Given the description of an element on the screen output the (x, y) to click on. 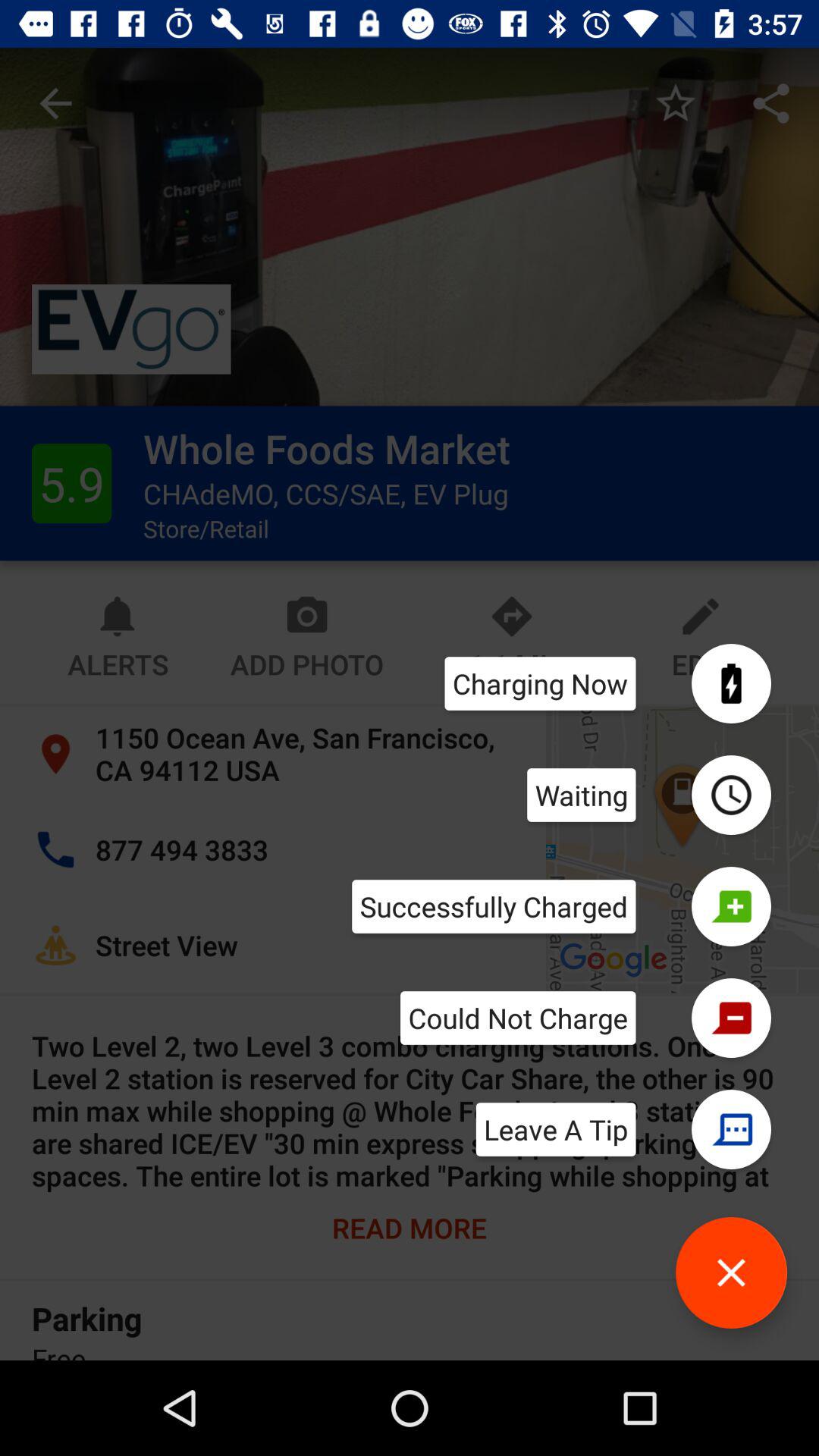
tap the leave a tip icon (555, 1129)
